Given the description of an element on the screen output the (x, y) to click on. 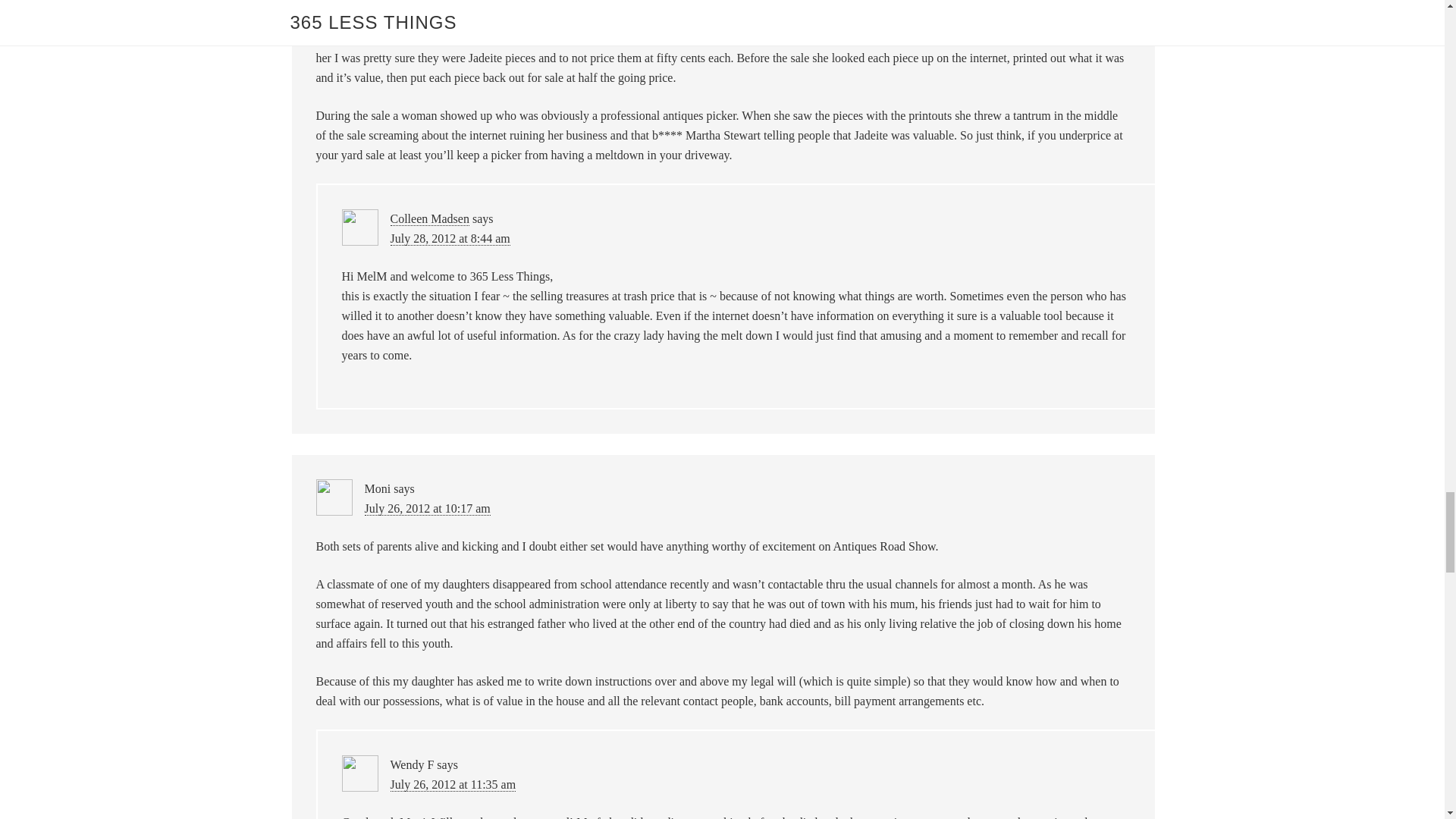
Colleen Madsen (429, 219)
July 26, 2012 at 8:51 am (423, 3)
July 28, 2012 at 8:44 am (449, 238)
July 26, 2012 at 10:17 am (426, 508)
